Given the description of an element on the screen output the (x, y) to click on. 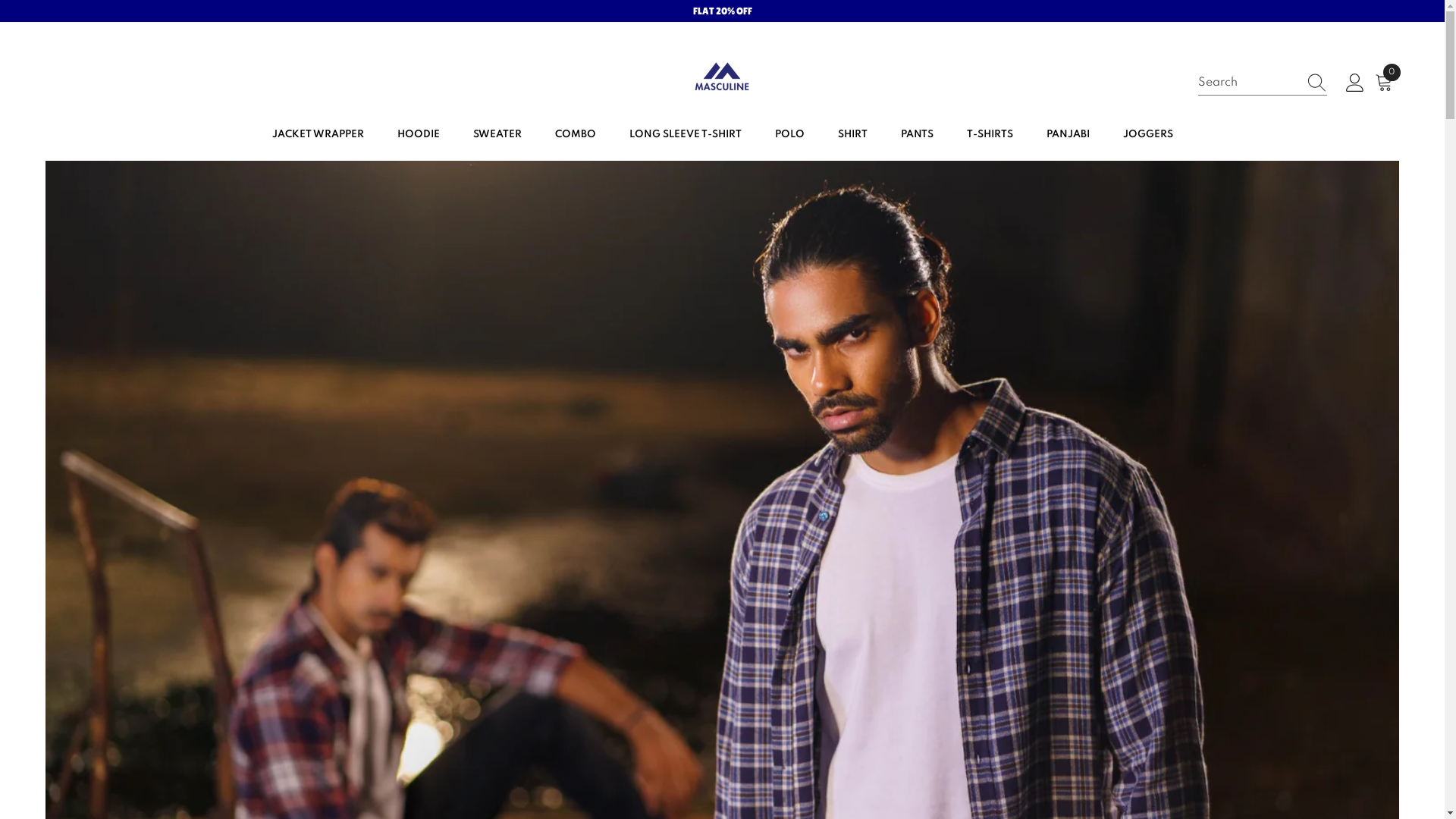
SHIRT Element type: text (851, 134)
JOGGERS Element type: text (1147, 134)
PANJABI Element type: text (1067, 134)
JACKET WRAPPER Element type: text (316, 134)
PANTS Element type: text (917, 134)
HOODIE Element type: text (418, 134)
T-SHIRTS Element type: text (989, 134)
0
0 items Element type: text (1386, 83)
Log in Element type: text (1355, 83)
POLO Element type: text (789, 134)
COMBO Element type: text (575, 134)
LONG SLEEVE T-SHIRT Element type: text (685, 134)
SWEATER Element type: text (497, 134)
